Given the description of an element on the screen output the (x, y) to click on. 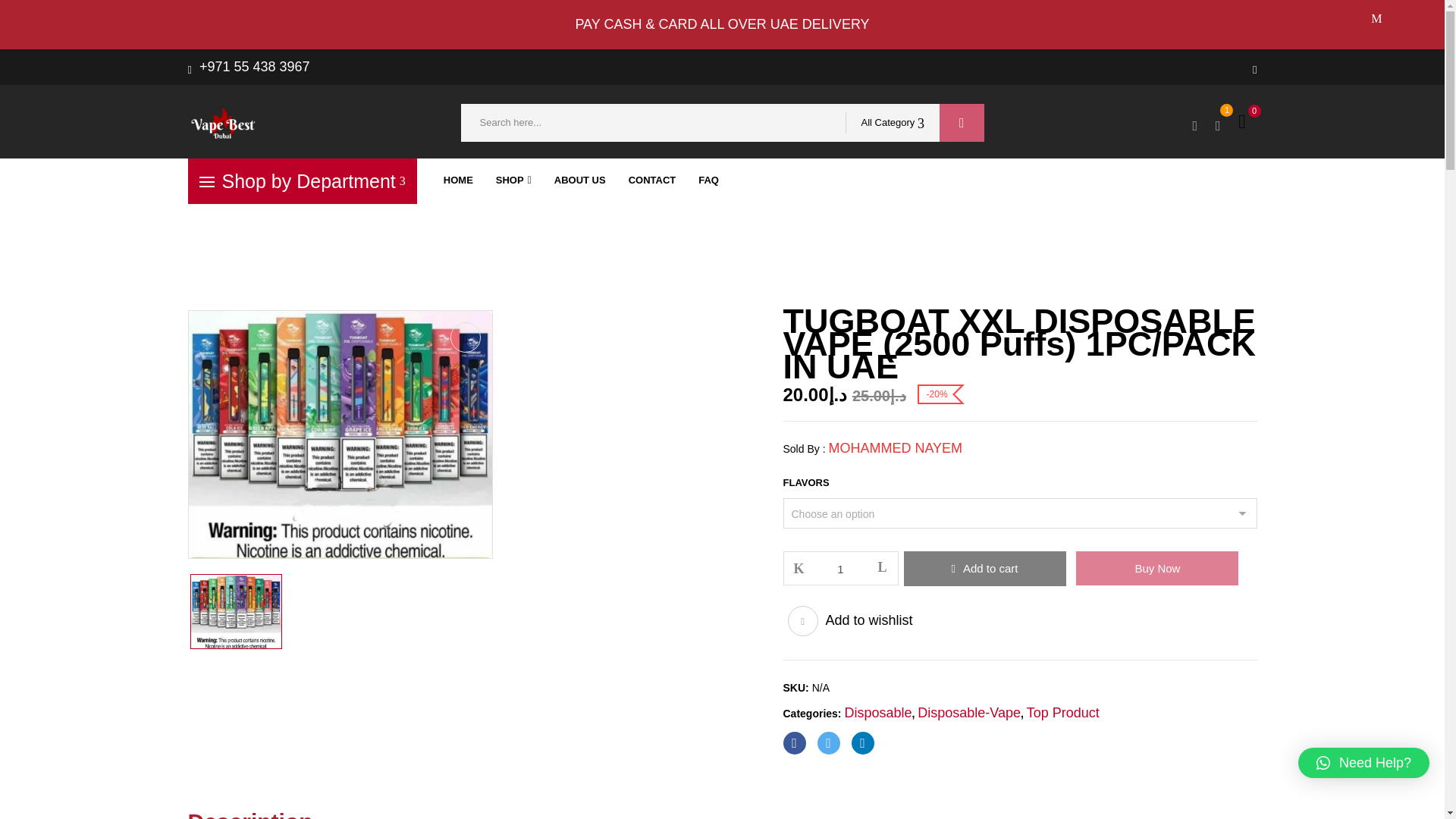
Facebook (794, 743)
search (961, 122)
1 (841, 569)
Twitter (828, 743)
LinkedIn (861, 743)
